Given the description of an element on the screen output the (x, y) to click on. 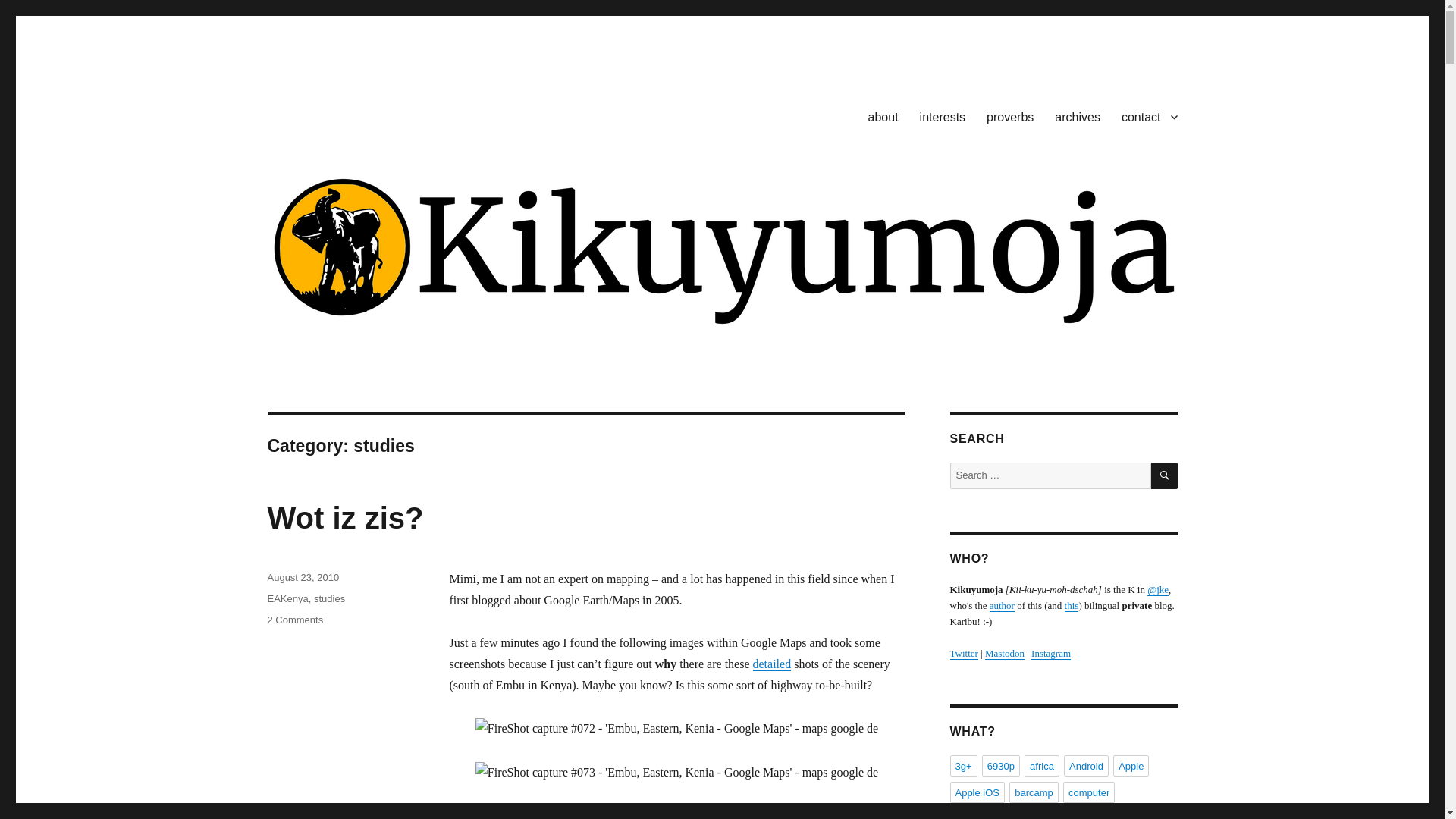
about (294, 619)
archives (882, 116)
detailed (1076, 116)
August 23, 2010 (772, 663)
Kikuyumoja (302, 577)
studies (326, 92)
Wot iz zis? (329, 598)
proverbs (344, 517)
interests (1009, 116)
